Given the description of an element on the screen output the (x, y) to click on. 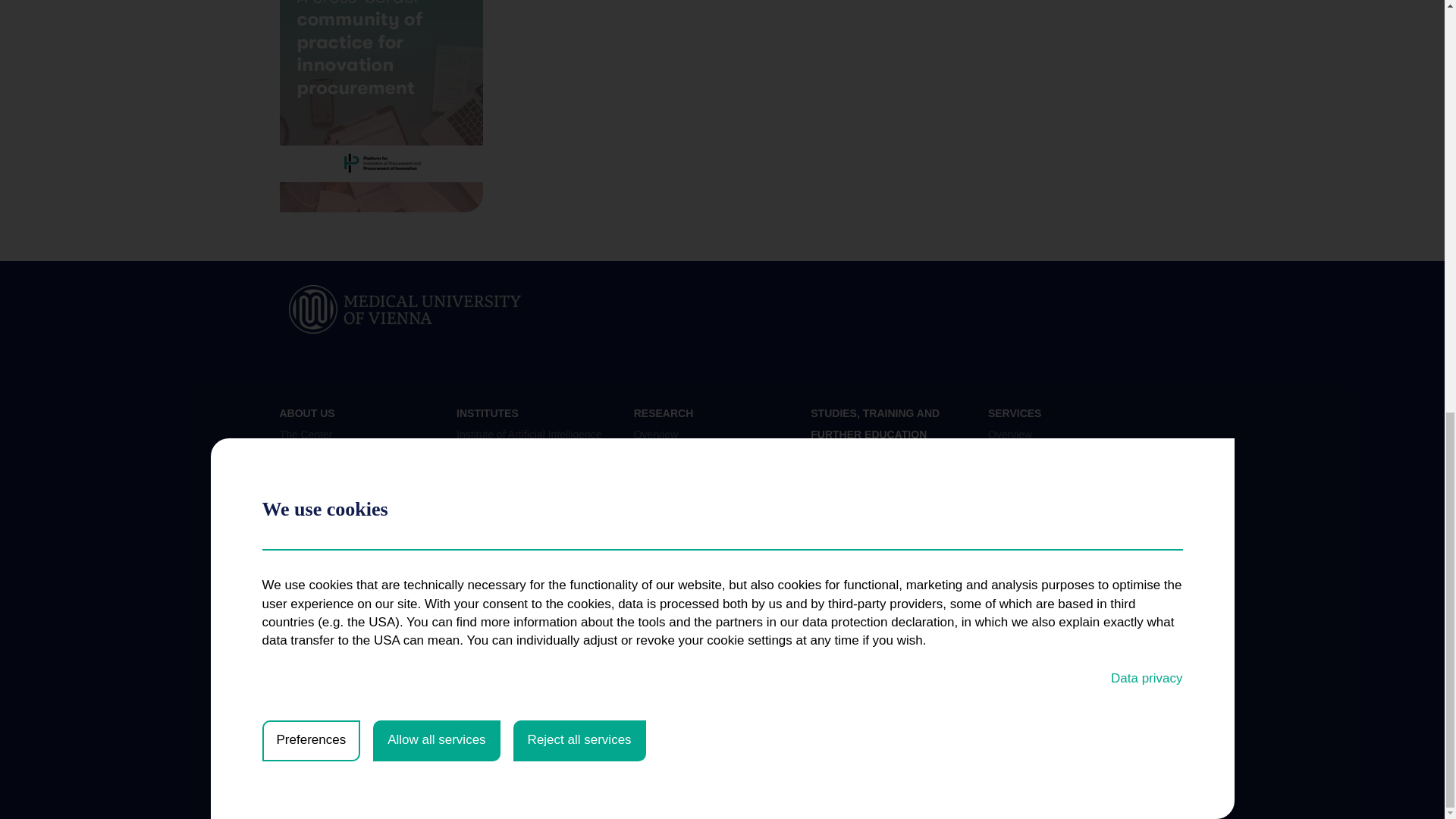
Staff Members (313, 482)
Open Positions (314, 508)
The Center (305, 434)
Click to open the leaflet (380, 106)
News (292, 458)
Medical University of Vienna (404, 309)
Medical University of Vienna (404, 308)
